Given the description of an element on the screen output the (x, y) to click on. 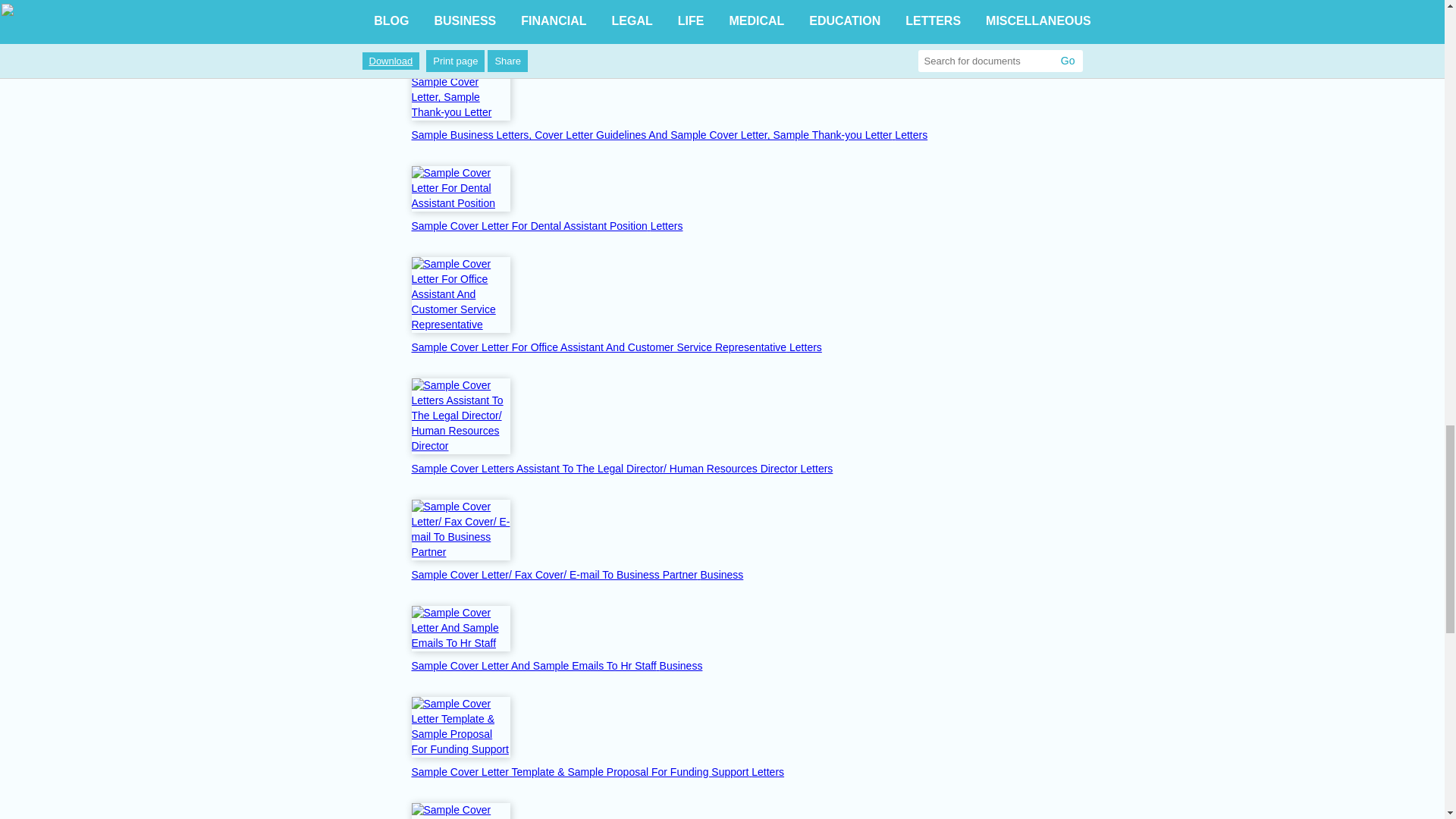
Letters (911, 134)
Business (681, 665)
Sample Cover Letter For Dental Assistant Position (459, 188)
Sample Cover Letter And Sample Emails To Hr Staff (534, 665)
Letters (764, 2)
Letters (911, 134)
Business (722, 574)
Sample Cover Letter For Dental Assistant Position (529, 225)
Letters (816, 468)
